Given the description of an element on the screen output the (x, y) to click on. 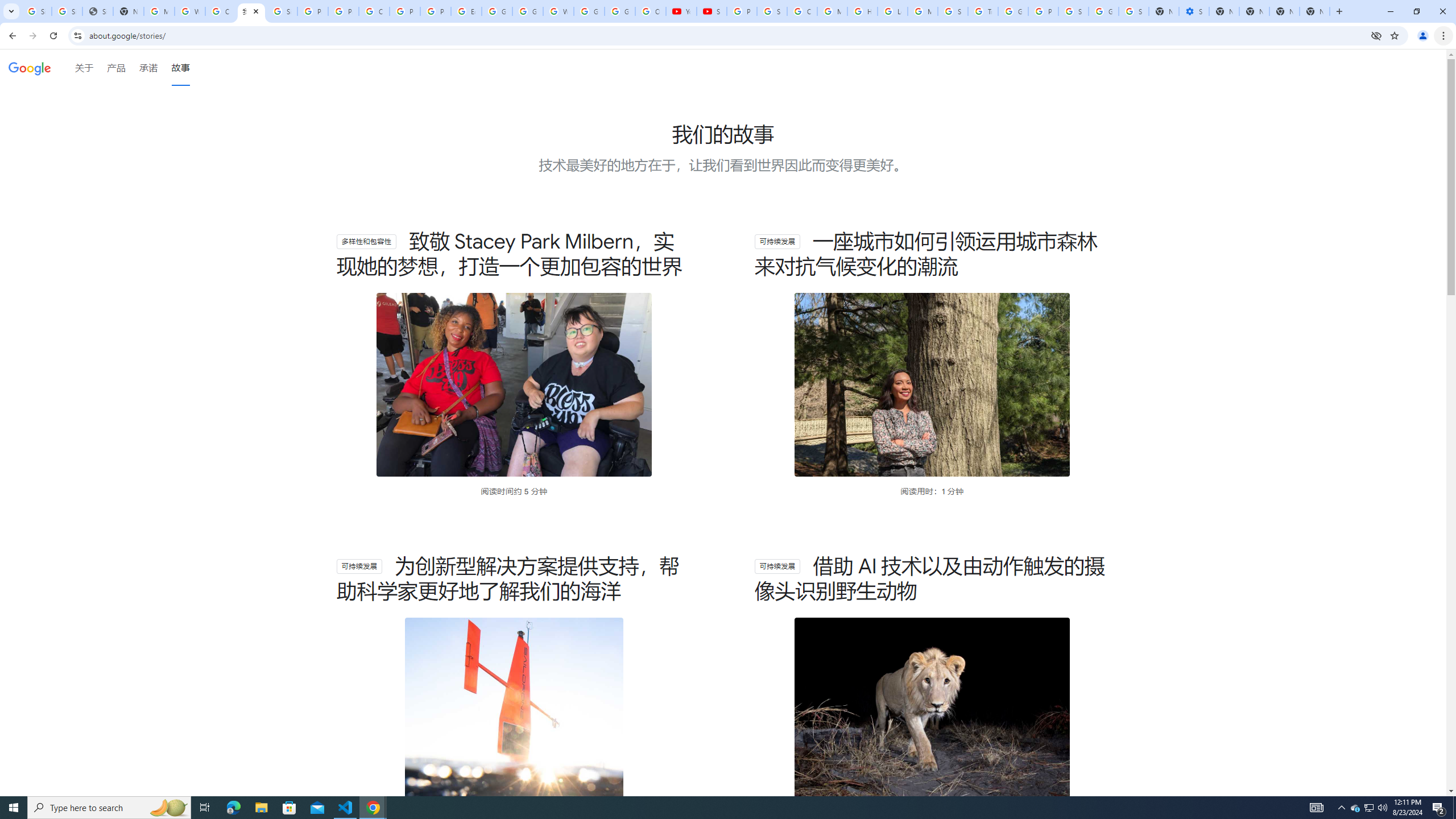
YouTube (681, 11)
Sign in - Google Accounts (1072, 11)
Edit and view right-to-left text - Google Docs Editors Help (465, 11)
